Given the description of an element on the screen output the (x, y) to click on. 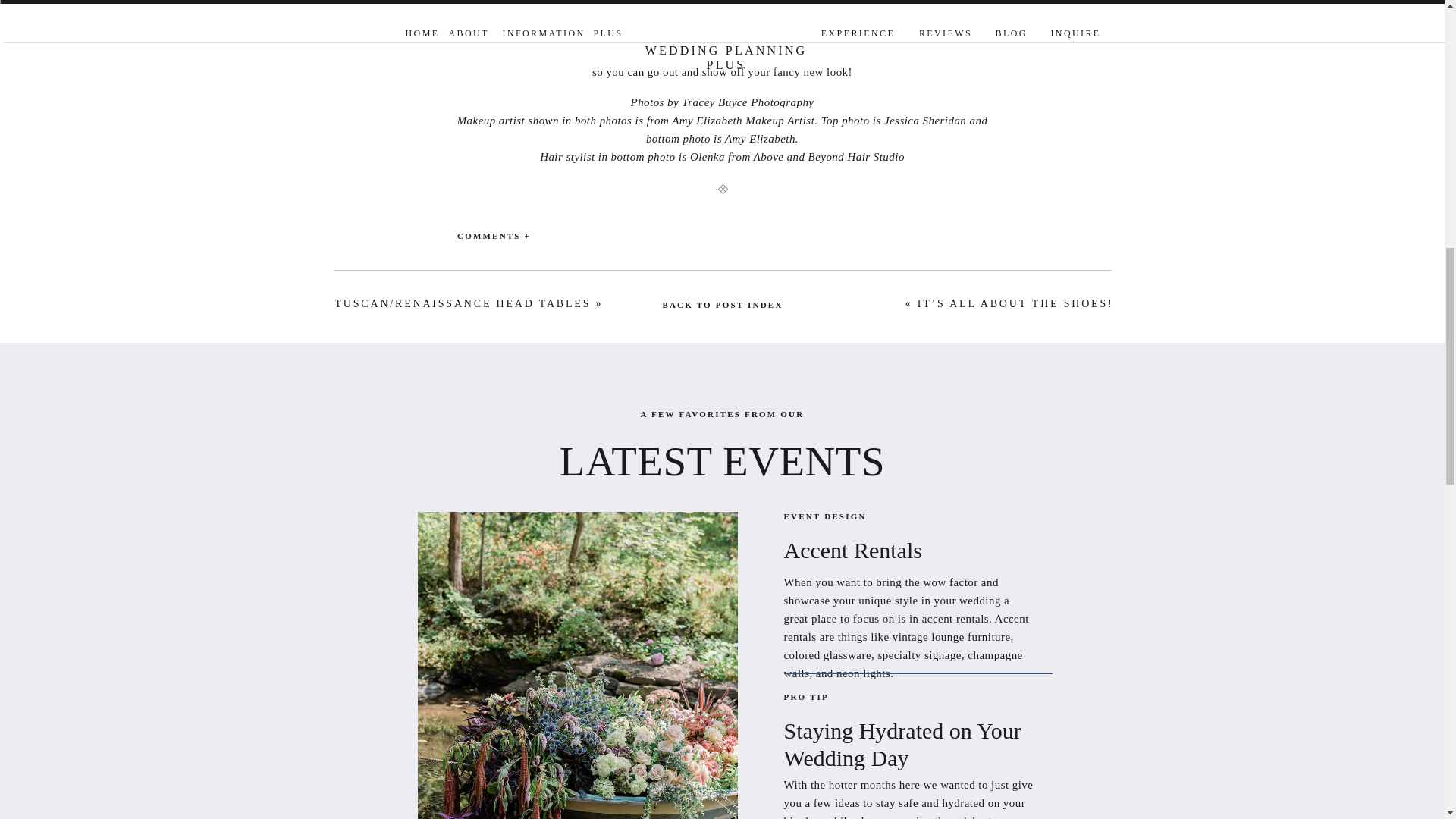
Accent Rentals (908, 550)
PRO TIP (850, 697)
A FEW FAVORITES FROM OUR (721, 415)
EVENT DESIGN (827, 517)
Staying Hydrated on Your Wedding Day (908, 730)
